Given the description of an element on the screen output the (x, y) to click on. 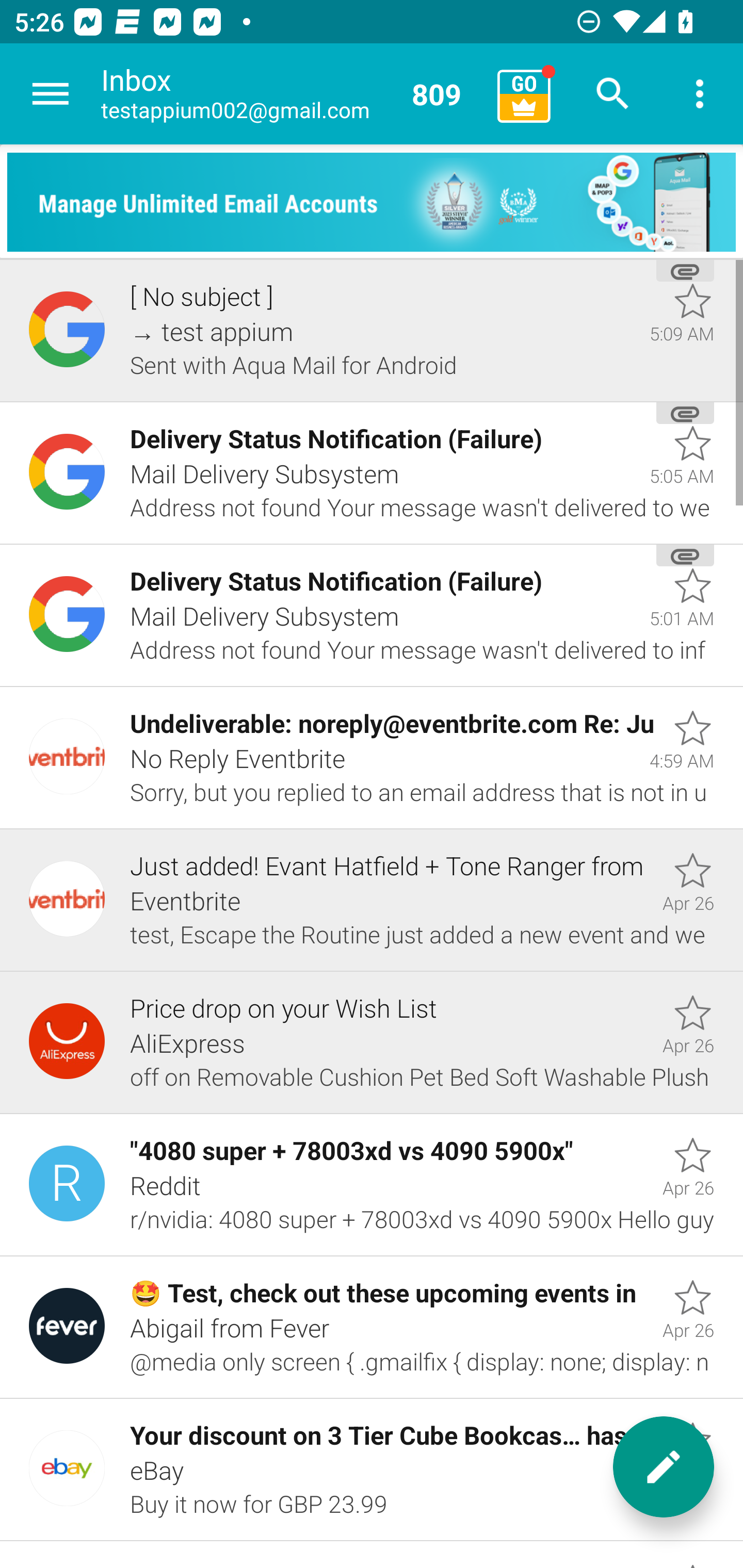
Navigate up (50, 93)
Inbox testappium002@gmail.com 809 (291, 93)
Search (612, 93)
More options (699, 93)
New message (663, 1466)
